Given the description of an element on the screen output the (x, y) to click on. 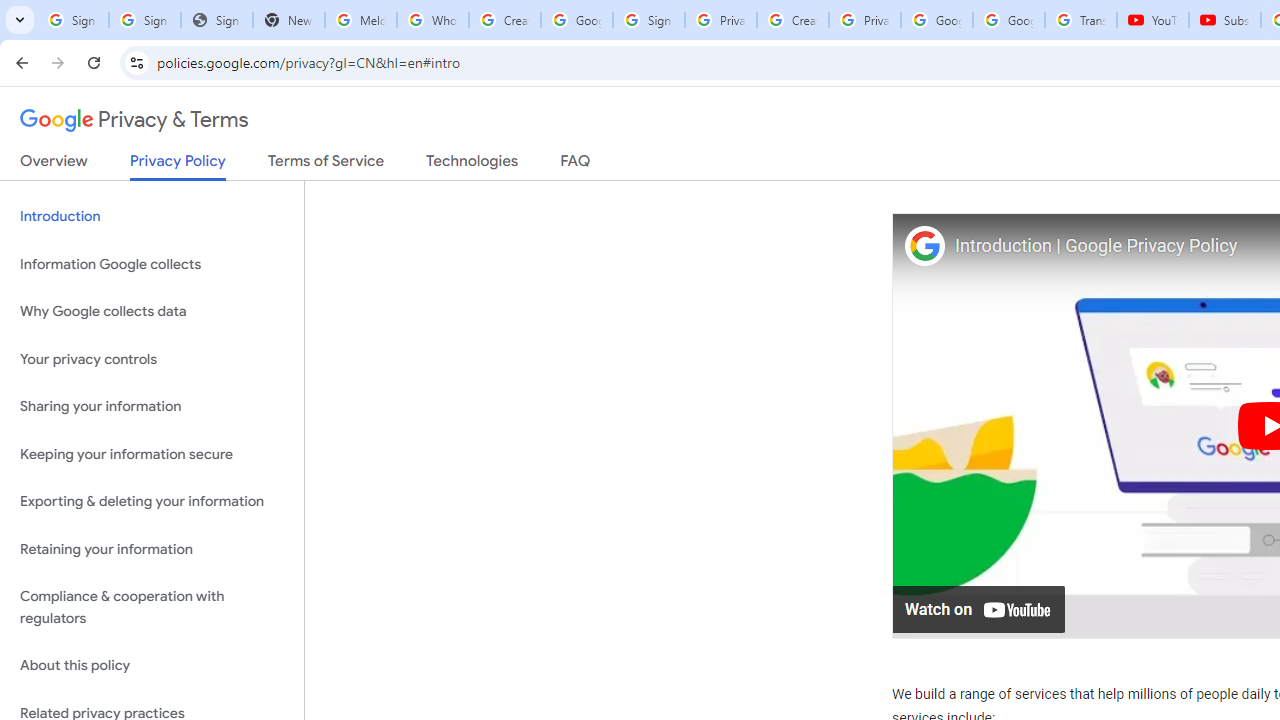
Why Google collects data (152, 312)
Introduction (152, 216)
Sign in - Google Accounts (648, 20)
Subscriptions - YouTube (1224, 20)
Create your Google Account (792, 20)
Keeping your information secure (152, 453)
Create your Google Account (504, 20)
